Given the description of an element on the screen output the (x, y) to click on. 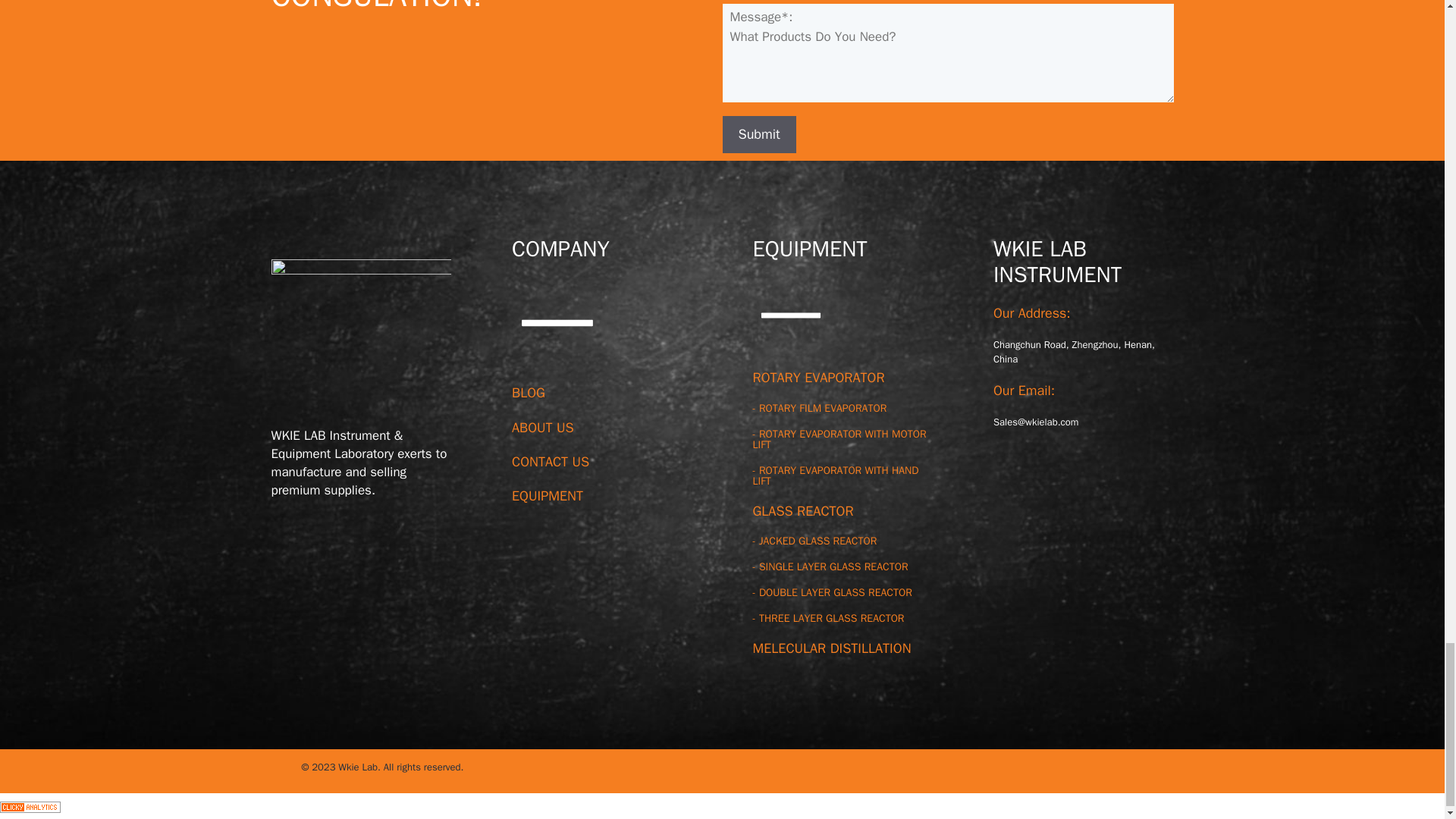
logo (360, 331)
CONTACT US (550, 461)
ABOUT US (542, 427)
- JACKED GLASS REACTOR (814, 540)
GLASS REACTOR (802, 510)
Submit (758, 134)
- SINGLE LAYER GLASS REACTOR (829, 566)
EQUIPMENT (547, 495)
Submit (758, 134)
- DOUBLE LAYER GLASS REACTOR (831, 592)
- ROTARY EVAPORATOR WITH MOTOR LIFT (839, 439)
BLOG (528, 392)
- ROTARY FILM EVAPORATOR (819, 408)
ROTARY EVAPORATOR (817, 377)
- ROTARY EVAPORATOR WITH HAND LIFT (835, 475)
